Given the description of an element on the screen output the (x, y) to click on. 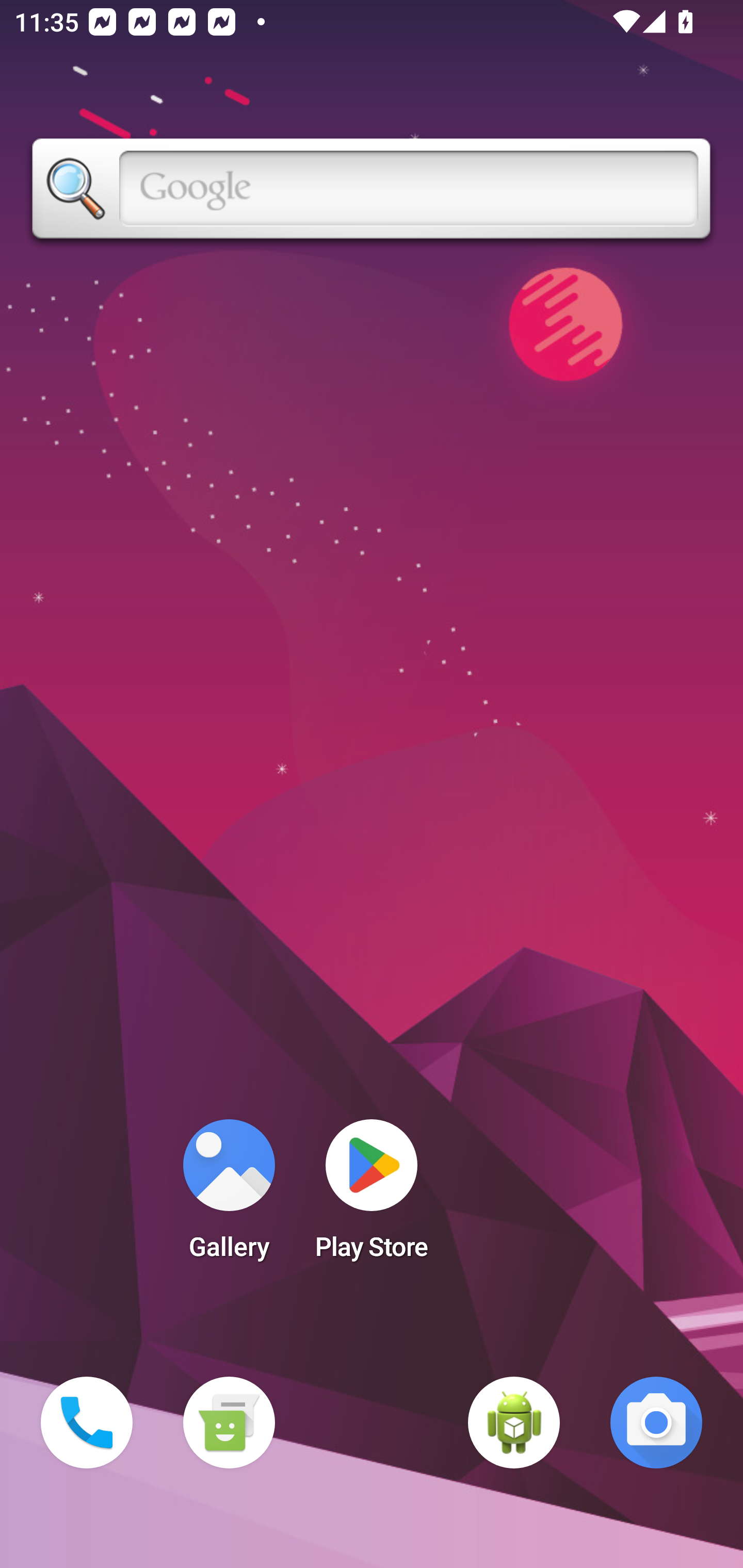
Gallery (228, 1195)
Play Store (371, 1195)
Phone (86, 1422)
Messaging (228, 1422)
WebView Browser Tester (513, 1422)
Camera (656, 1422)
